Given the description of an element on the screen output the (x, y) to click on. 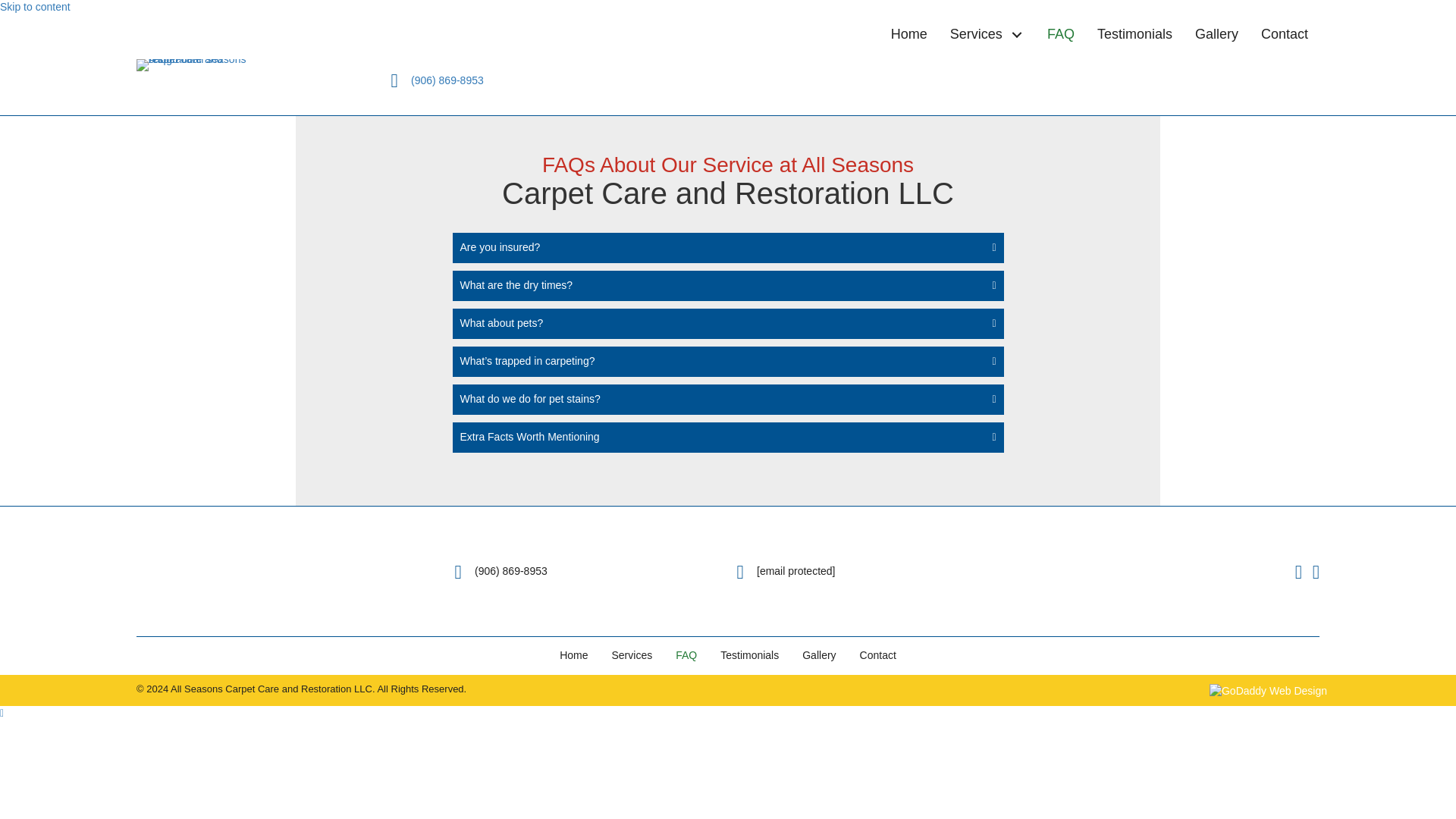
Skip to content (34, 6)
FAQ (1060, 34)
Home (573, 655)
allseasonslogo (193, 571)
Home (909, 34)
Contact (877, 655)
Services (987, 34)
Gallery (818, 655)
Services (631, 655)
Gallery (1216, 34)
